Given the description of an element on the screen output the (x, y) to click on. 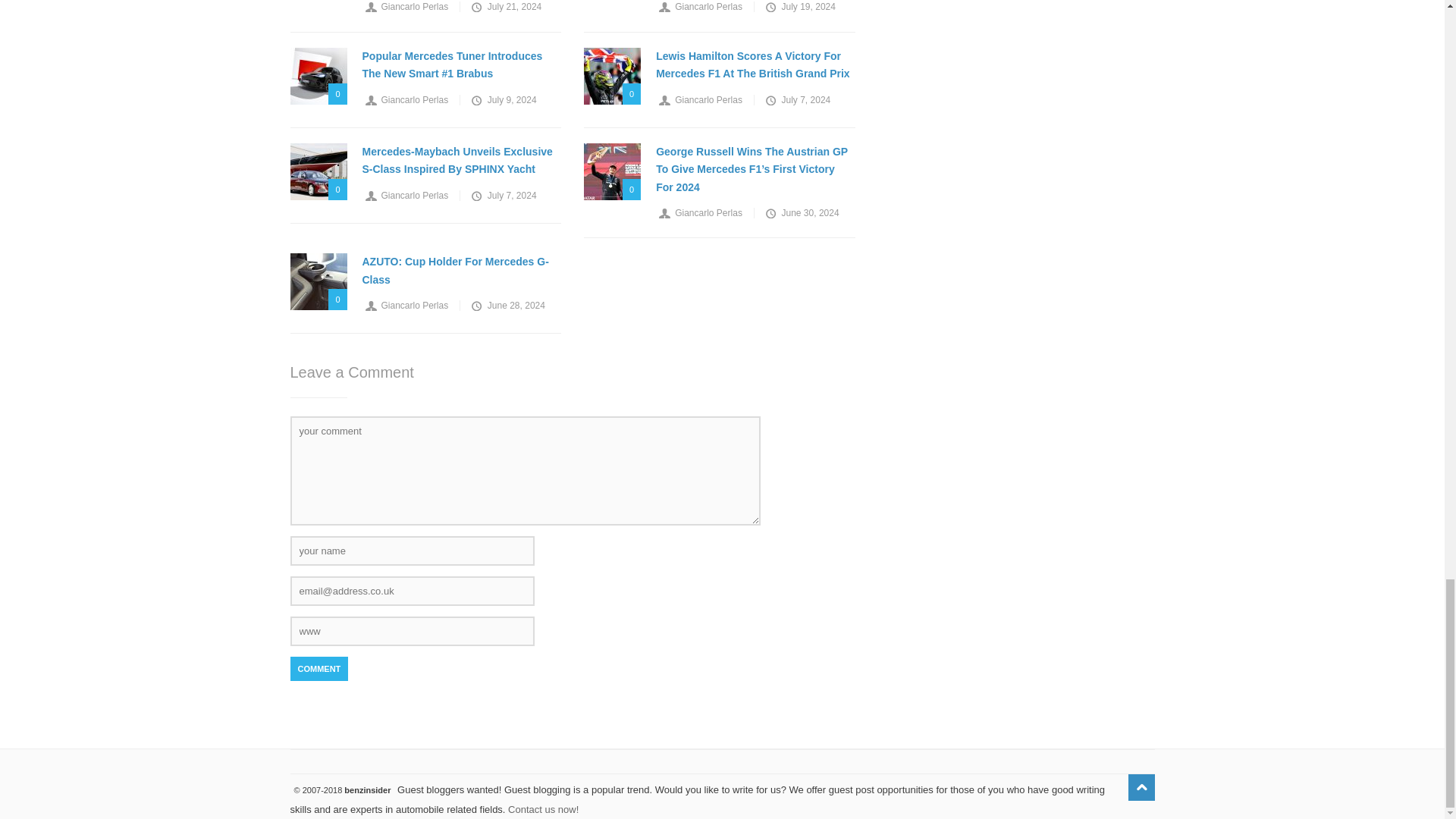
8:30 am (504, 6)
2:39 am (798, 6)
Comment (318, 668)
